Given the description of an element on the screen output the (x, y) to click on. 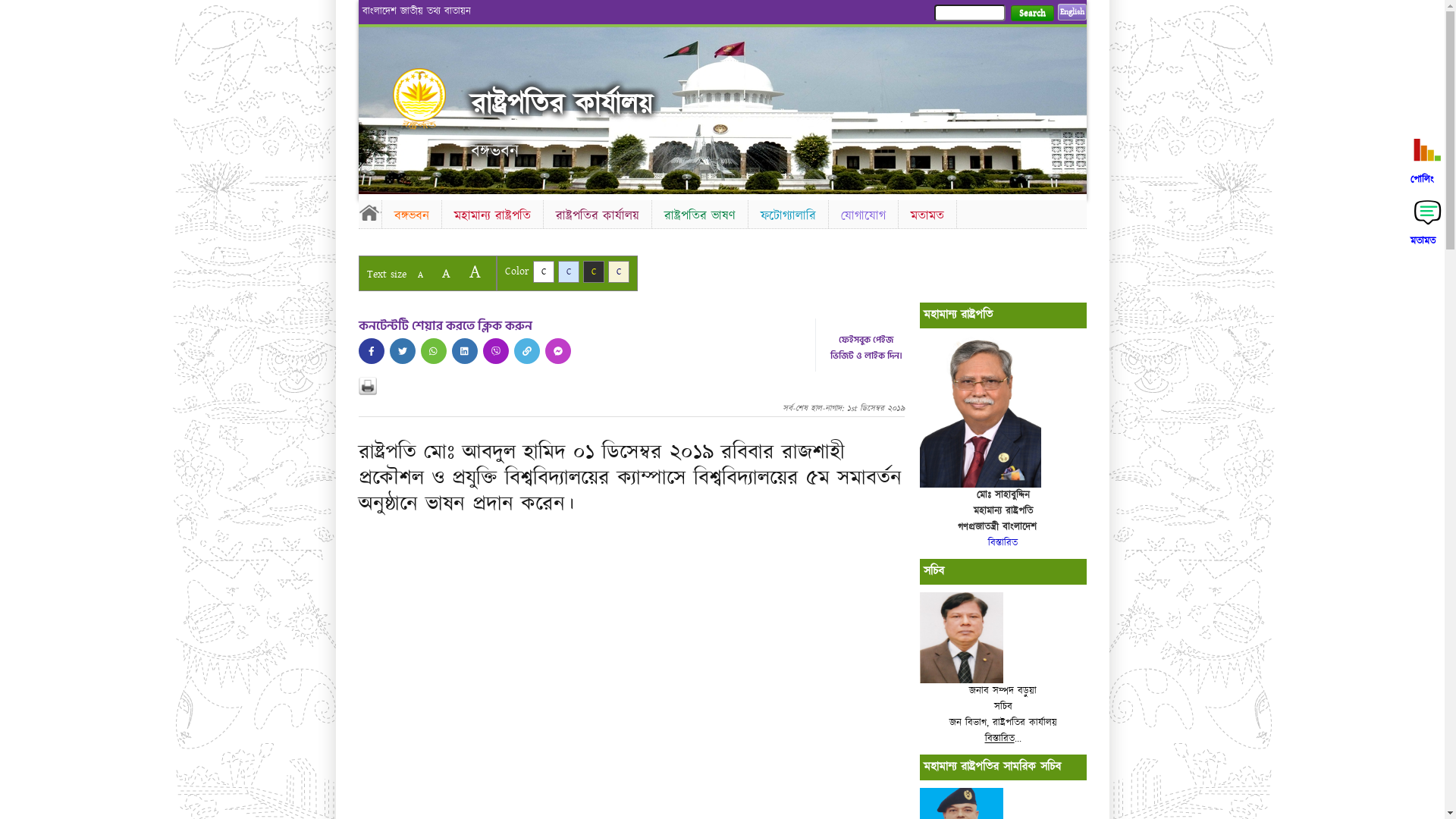
C Element type: text (618, 271)
C Element type: text (568, 271)
Home Element type: hover (431, 98)
Home Element type: hover (368, 211)
Search Element type: text (1031, 13)
English Element type: text (1071, 11)
A Element type: text (445, 273)
C Element type: text (542, 271)
C Element type: text (592, 271)
A Element type: text (474, 271)
A Element type: text (419, 274)
